Given the description of an element on the screen output the (x, y) to click on. 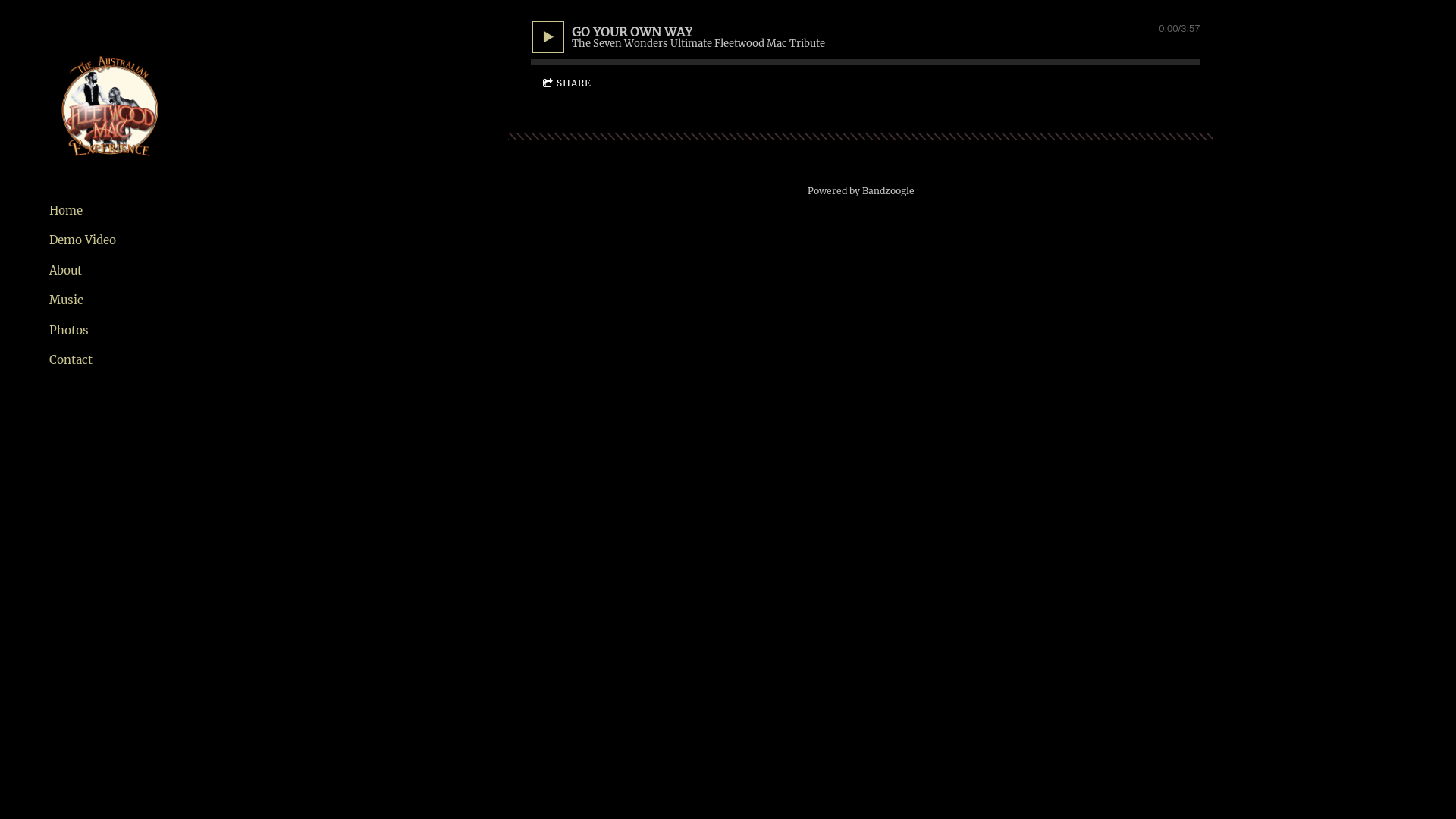
Photos Element type: text (68, 330)
Powered by Bandzoogle Element type: text (859, 190)
SHARE Element type: text (566, 83)
About Element type: text (65, 270)
Contact Element type: text (70, 360)
Demo Video Element type: text (82, 240)
Music Element type: text (66, 300)
Play Element type: hover (547, 36)
Home Element type: text (65, 210)
